Given the description of an element on the screen output the (x, y) to click on. 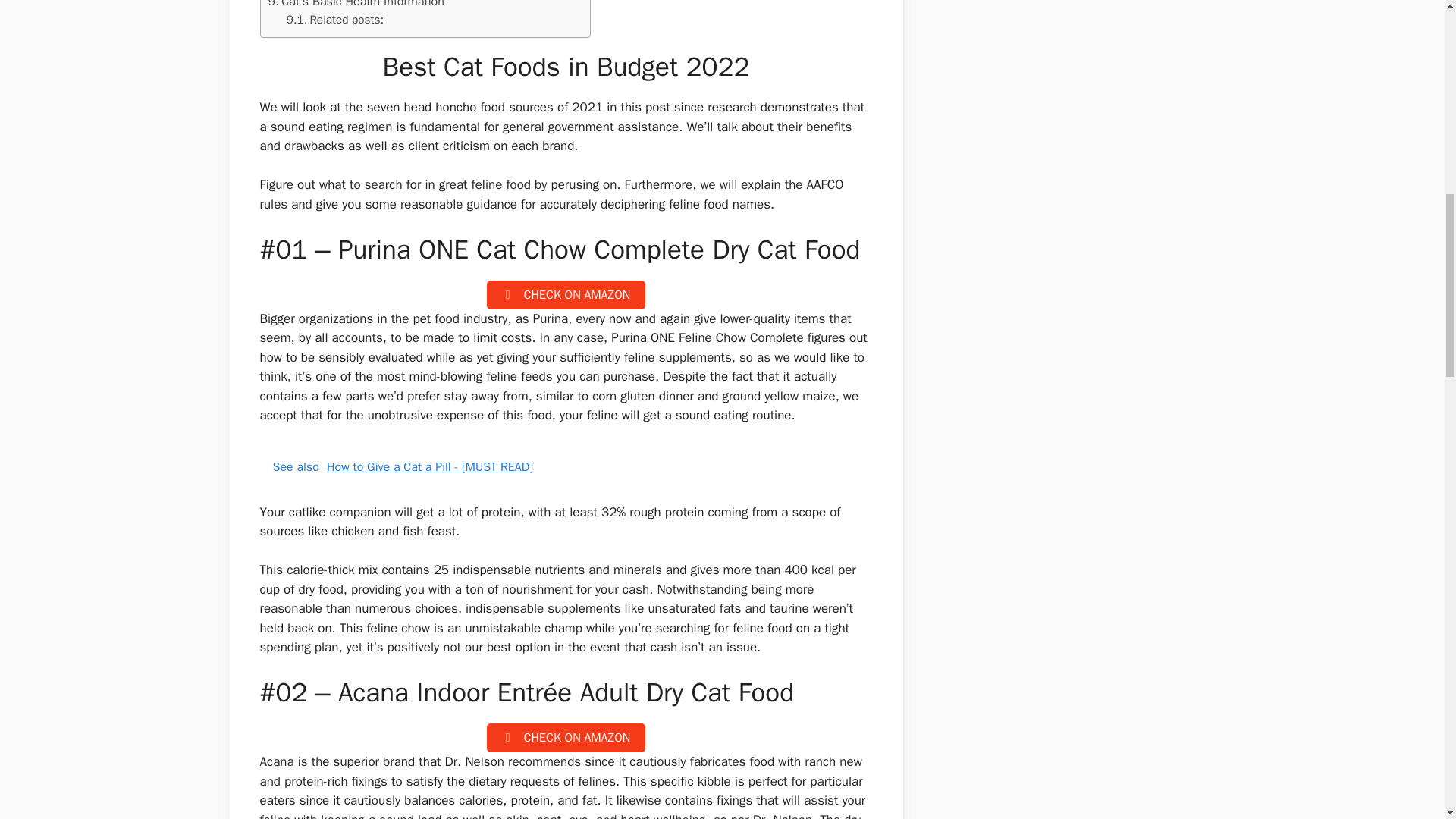
Related posts: (335, 19)
CHECK ON AMAZON (565, 737)
CHECK ON AMAZON (565, 294)
Related posts: (335, 19)
